Given the description of an element on the screen output the (x, y) to click on. 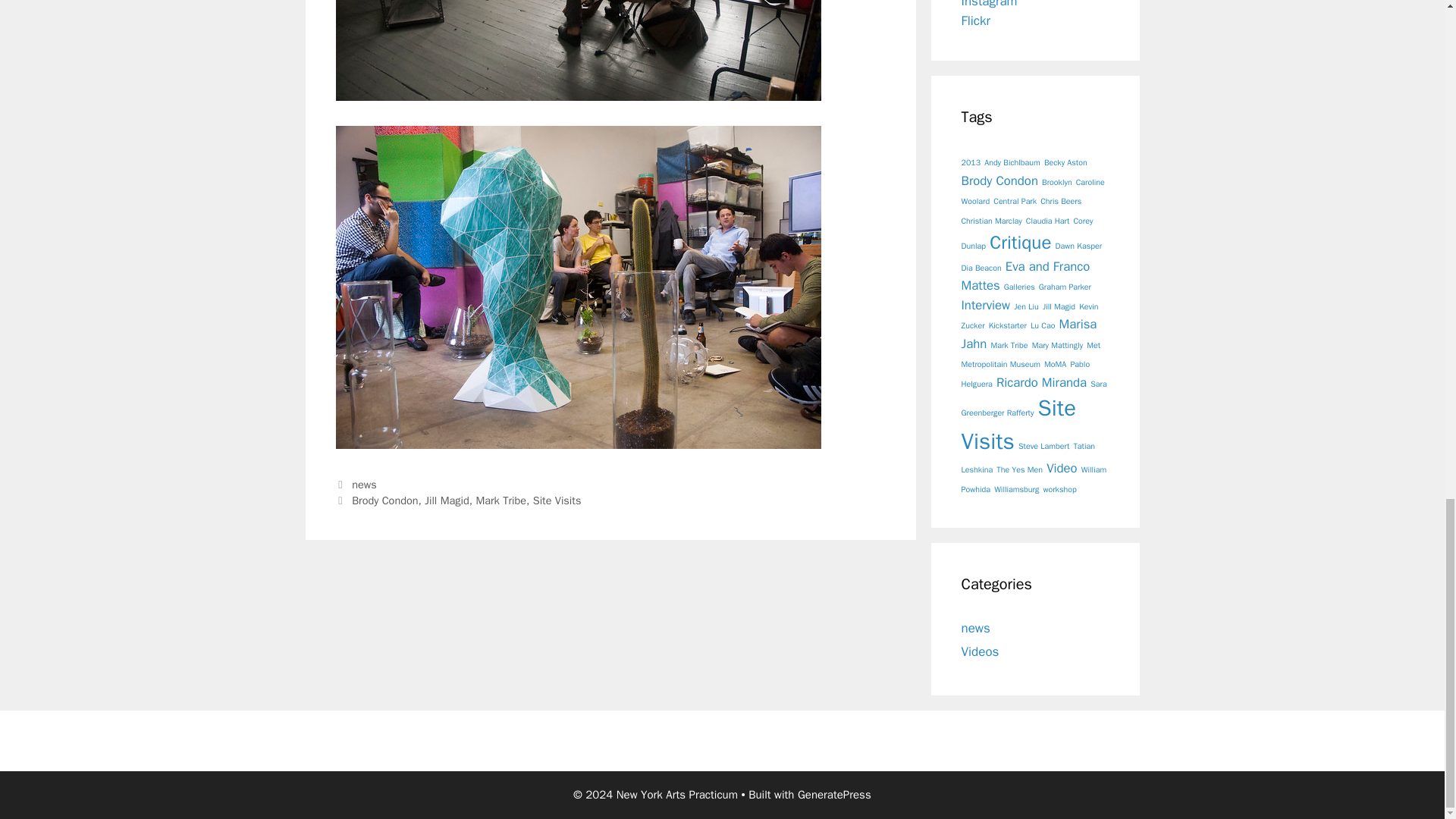
Instagram (988, 4)
Brody Condon (999, 180)
Central Park (1014, 201)
Site Visits (556, 499)
Chris Beers (1061, 201)
Corey Dunlap (1026, 233)
Christian Marclay (991, 221)
Jill Magid (446, 499)
Flickr (975, 20)
